Given the description of an element on the screen output the (x, y) to click on. 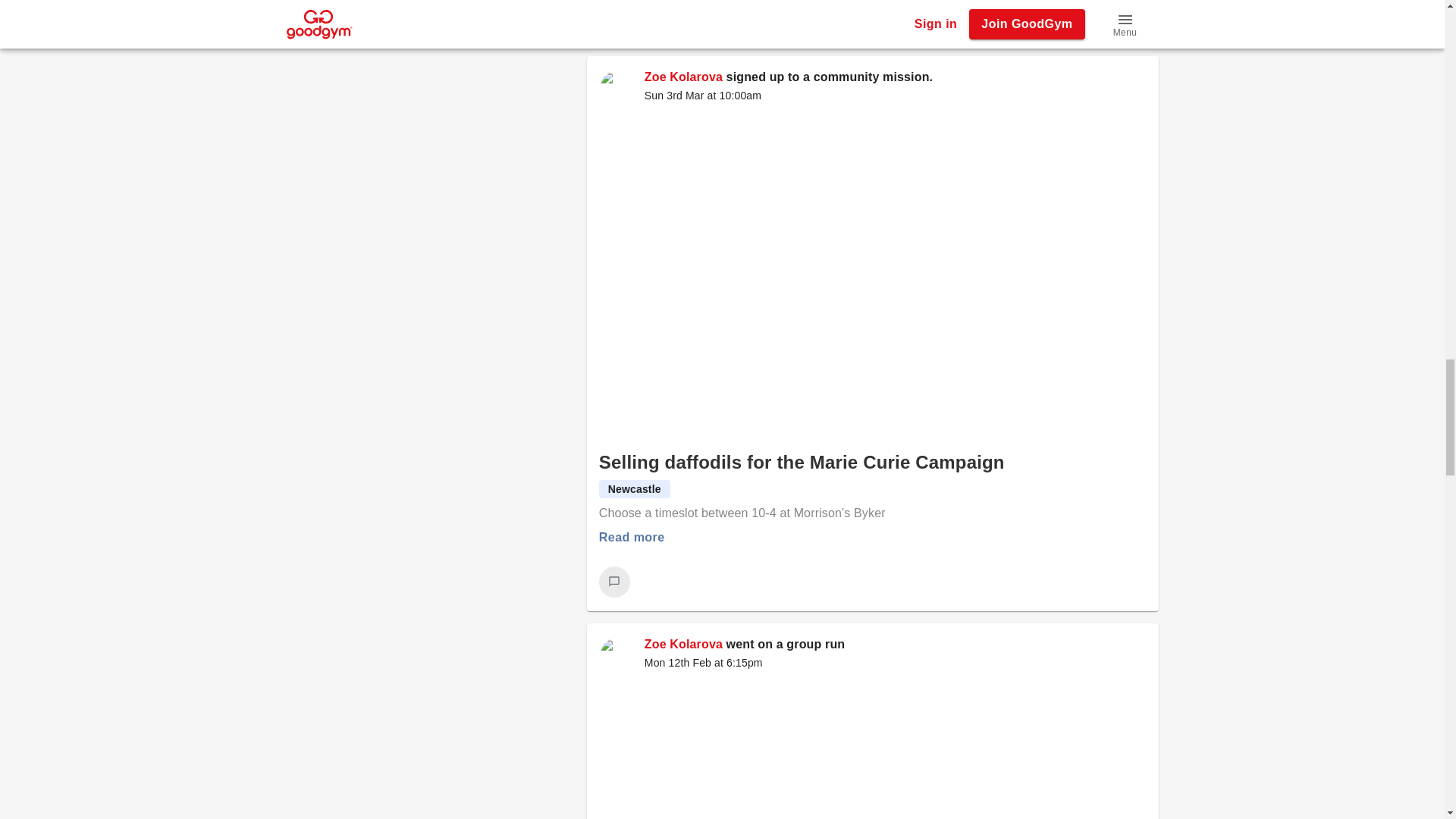
Litter-ally flyering through the good deeds (872, 751)
